Given the description of an element on the screen output the (x, y) to click on. 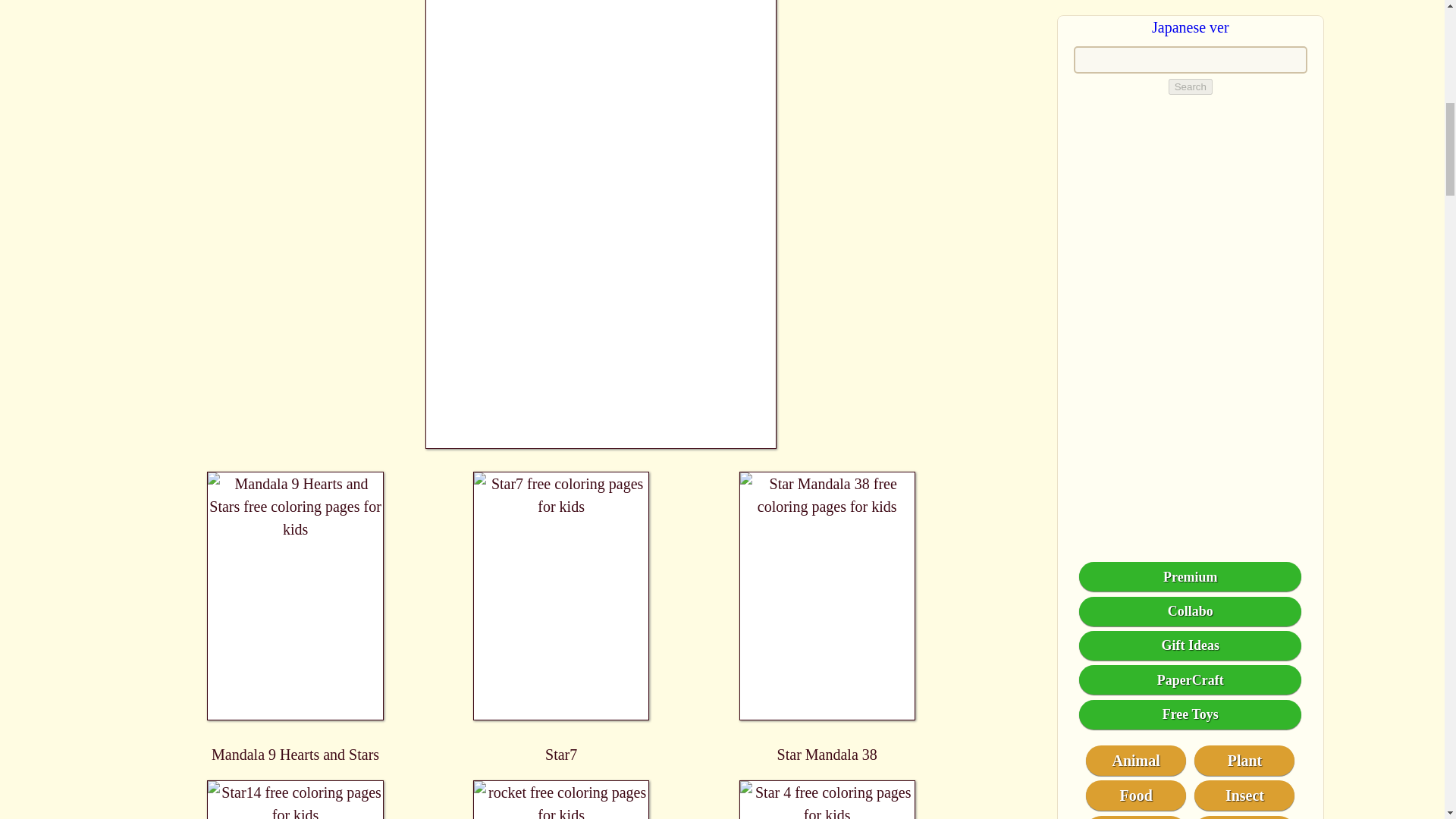
rocket (561, 799)
Star14 (295, 799)
Star 4 (826, 799)
